Given the description of an element on the screen output the (x, y) to click on. 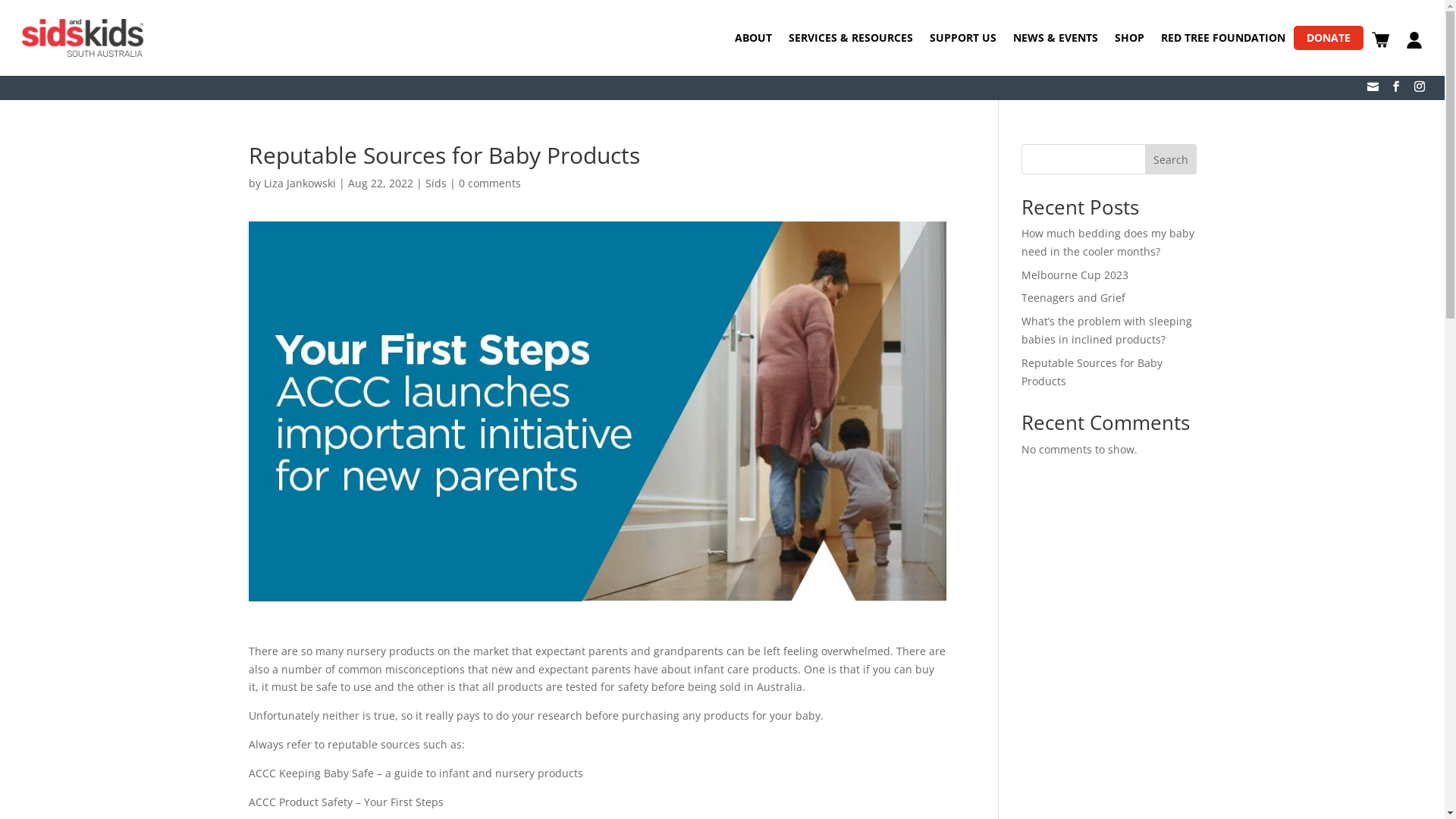
DONATE Element type: text (1328, 37)
Search Element type: text (1170, 159)
NEWS & EVENTS Element type: text (1055, 37)
Reputable Sources for Baby Products Element type: text (1091, 371)
How much bedding does my baby need in the cooler months? Element type: text (1107, 241)
ABOUT Element type: text (752, 37)
RED TREE FOUNDATION Element type: text (1223, 37)
Sids Element type: text (434, 182)
Melbourne Cup 2023 Element type: text (1074, 274)
Teenagers and Grief Element type: text (1073, 297)
Follow on Facebook Element type: hover (1395, 86)
SERVICES & RESOURCES Element type: text (850, 37)
Follow on Instagram Element type: hover (1419, 86)
SUPPORT US Element type: text (962, 37)
Liza Jankowski Element type: text (299, 182)
0 comments Element type: text (489, 182)
SHOP Element type: text (1129, 37)
